Given the description of an element on the screen output the (x, y) to click on. 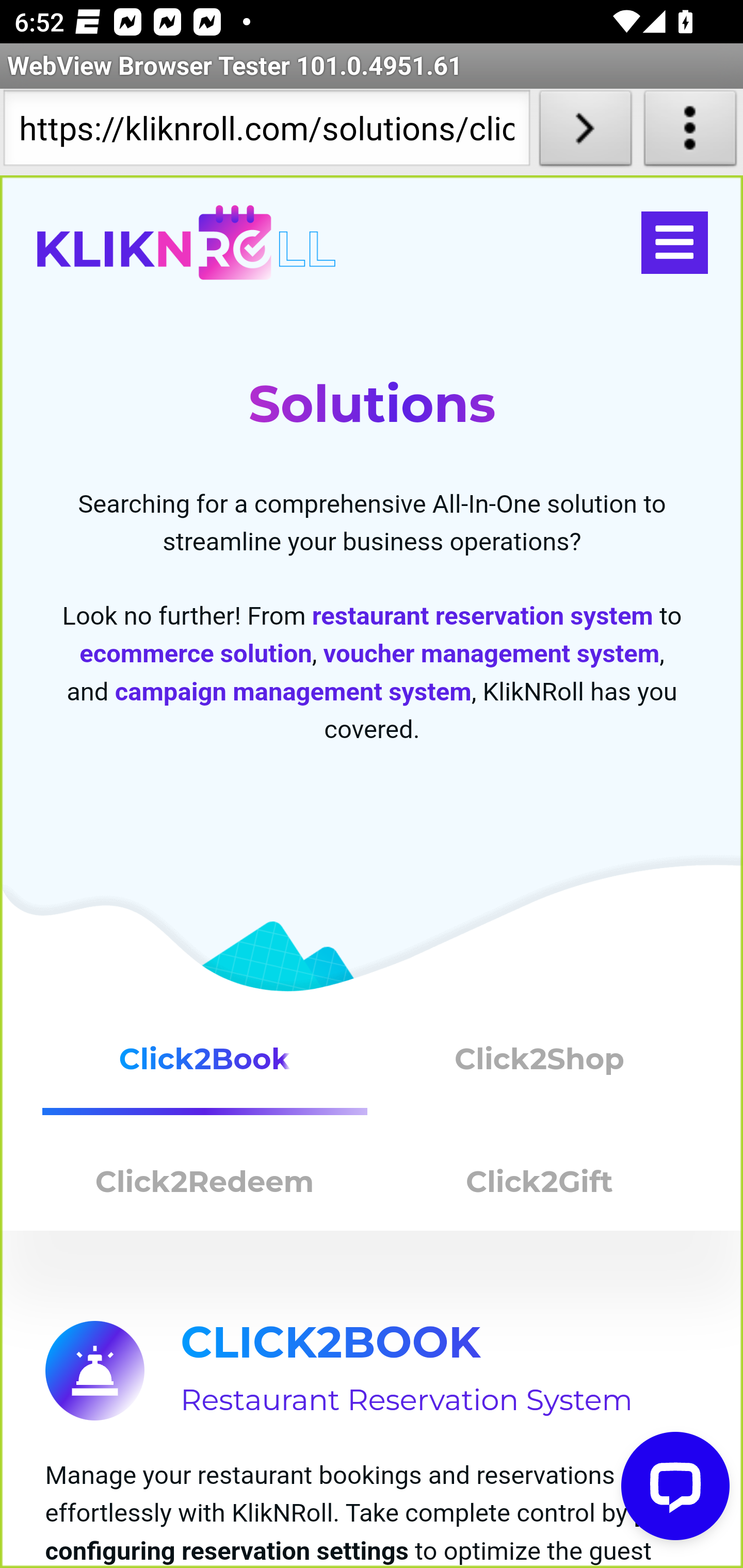
https://kliknroll.com/solutions/click2book/ (266, 132)
Load URL (585, 132)
About WebView (690, 132)
kliknroll (185, 242)
 (673, 242)
Click2Book (204, 1066)
Click2Shop (540, 1066)
Click2Redeem (204, 1185)
Click2Gift (540, 1185)
Open LiveChat chat widget (676, 1486)
